Given the description of an element on the screen output the (x, y) to click on. 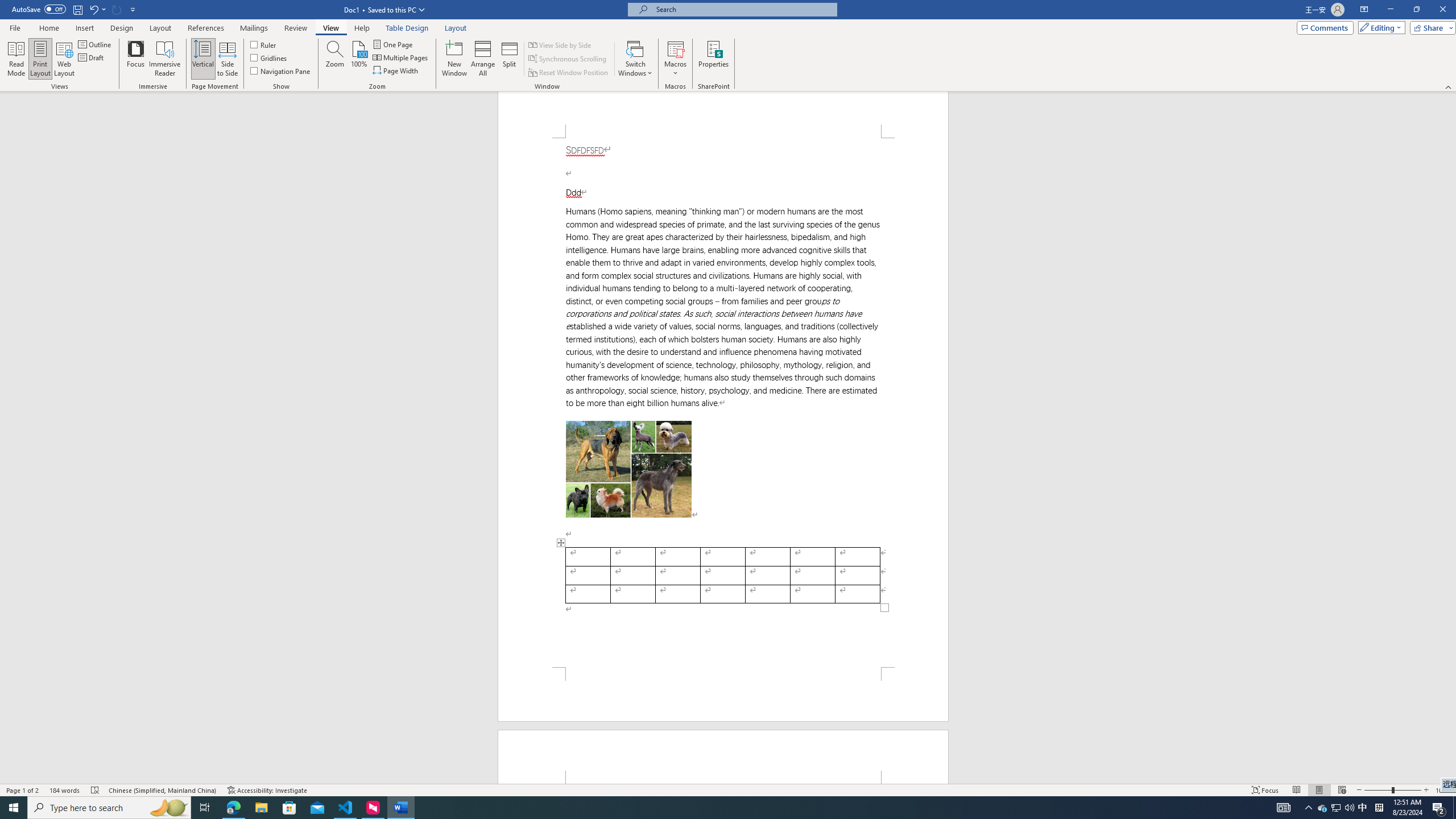
Can't Repeat (117, 9)
Page Number Page 1 of 2 (22, 790)
New Window (454, 58)
Synchronous Scrolling (568, 58)
Side to Side (226, 58)
Morphological variation in six dogs (628, 468)
Undo Apply Quick Style Set (92, 9)
100% (358, 58)
Outline (95, 44)
